Given the description of an element on the screen output the (x, y) to click on. 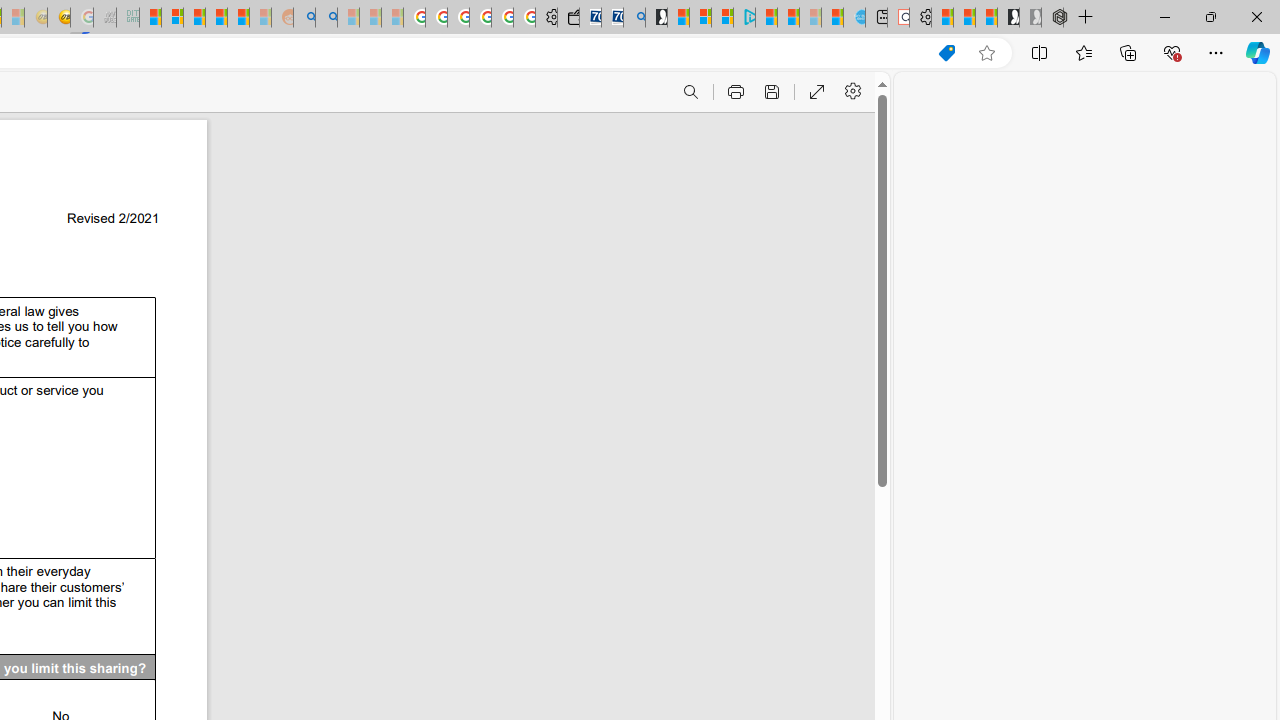
Microsoft Start Gaming (656, 17)
Student Loan Update: Forgiveness Program Ends This Month (238, 17)
Save (Ctrl+S) (770, 92)
DITOGAMES AG Imprint - Sleeping (127, 17)
